Given the description of an element on the screen output the (x, y) to click on. 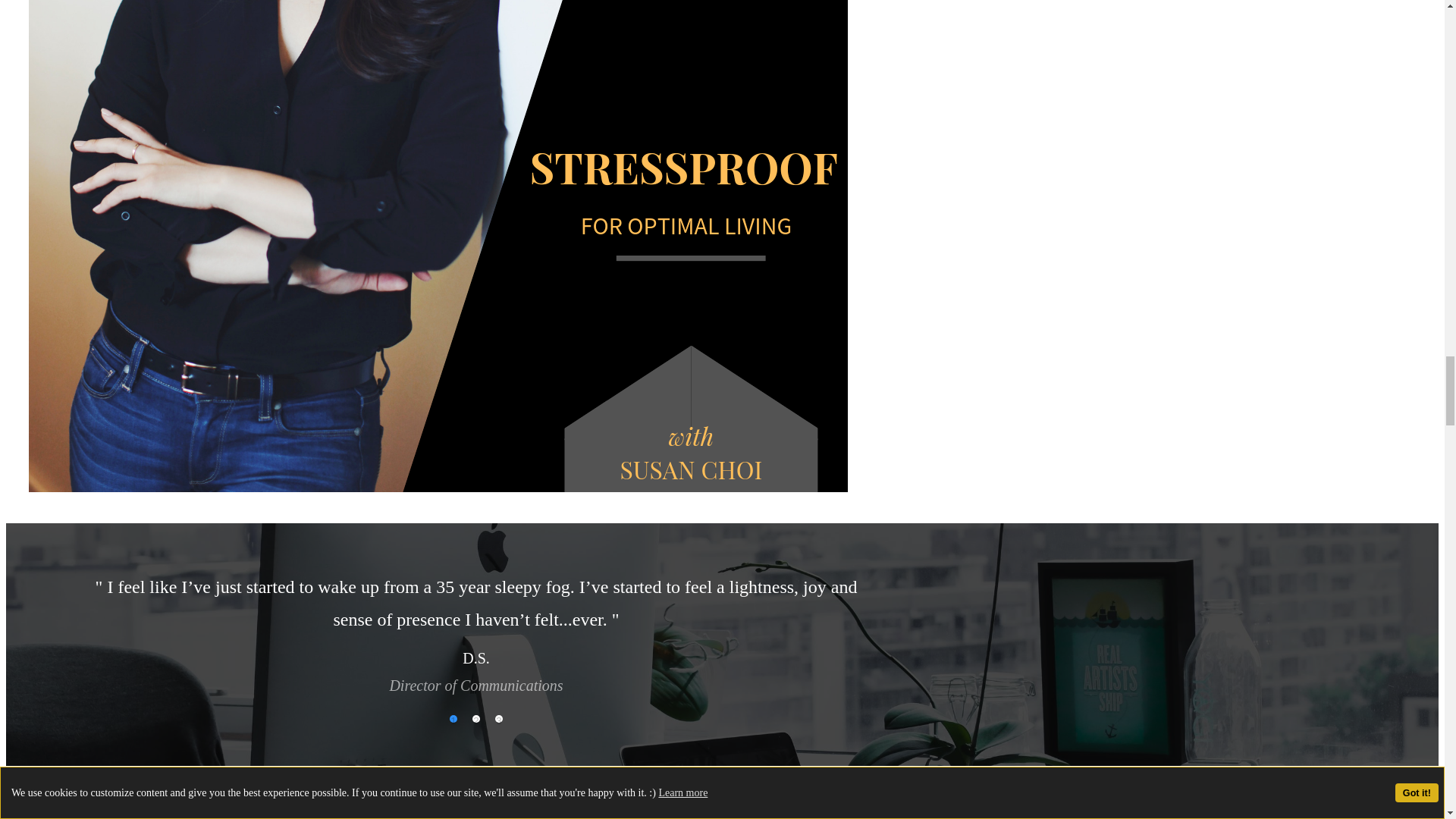
1 (453, 718)
3 (498, 718)
2 (475, 718)
